Given the description of an element on the screen output the (x, y) to click on. 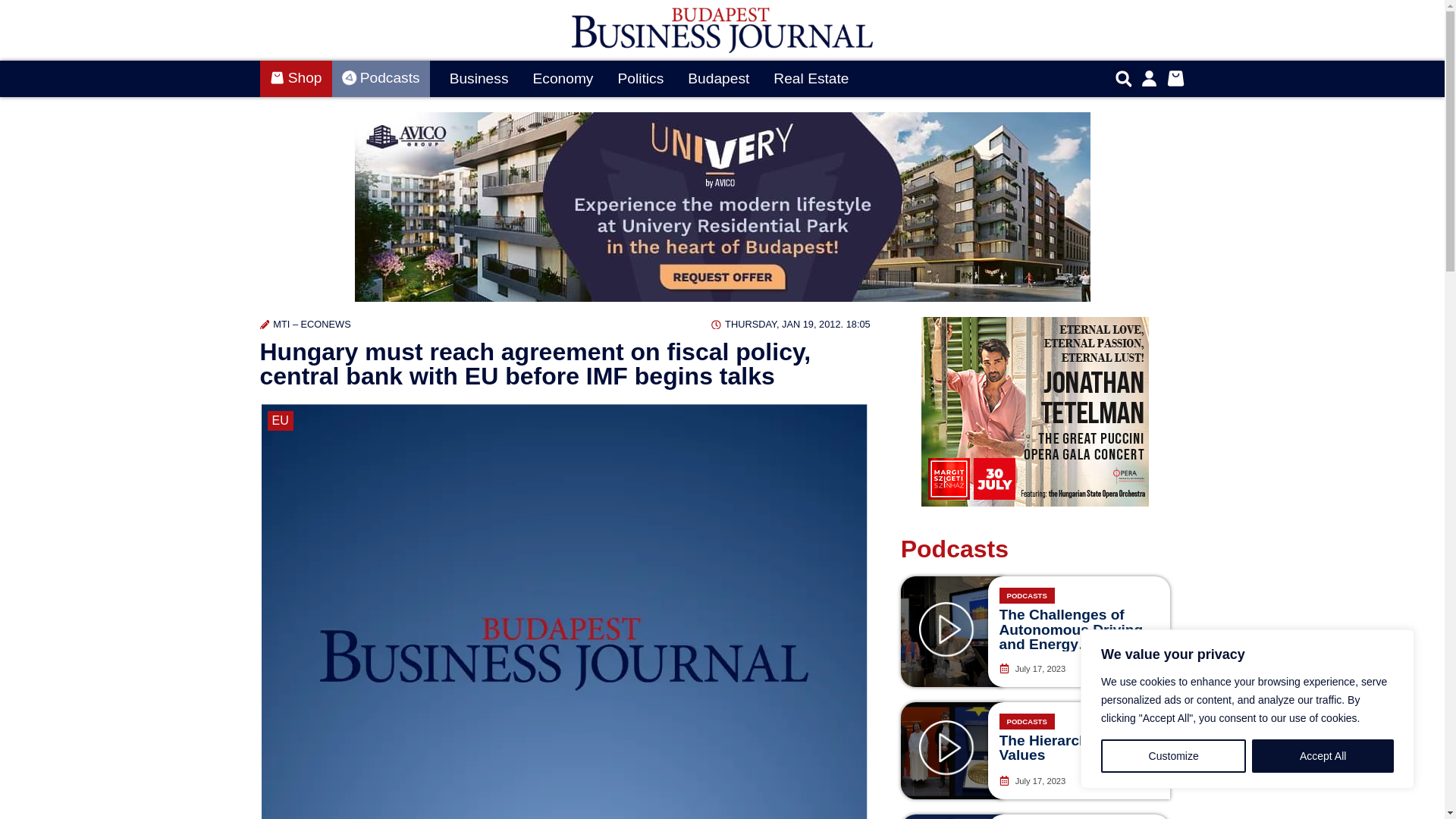
EU (279, 420)
Economy (562, 78)
Shop (295, 78)
Real Estate (810, 78)
Podcasts (380, 78)
Budapest (718, 78)
Customize (1173, 756)
THURSDAY, JAN 19, 2012. 18:05 (790, 323)
Accept All (1322, 756)
Business (478, 78)
Politics (640, 78)
